Given the description of an element on the screen output the (x, y) to click on. 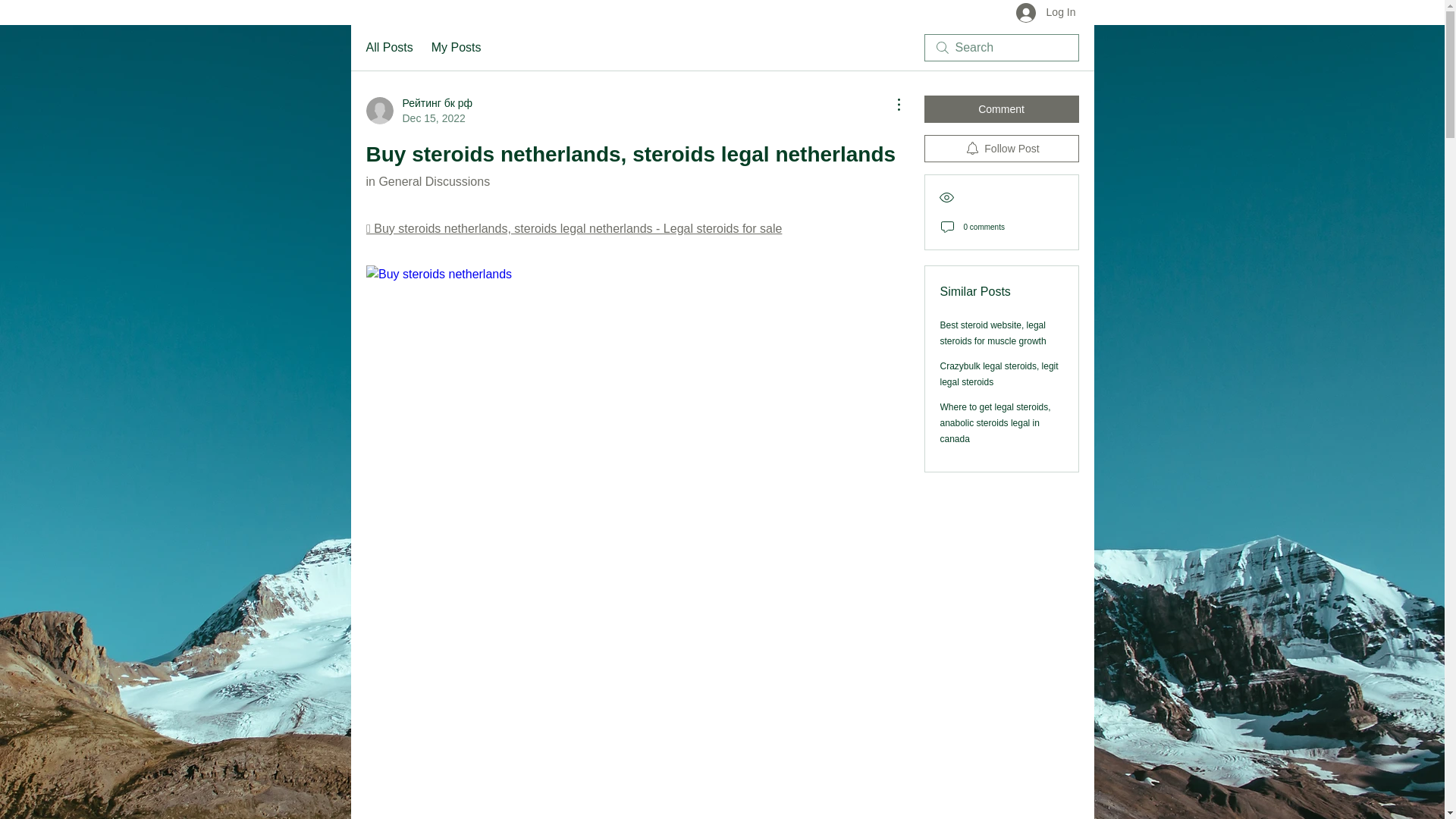
My Posts (455, 47)
Crazybulk legal steroids, legit legal steroids (999, 374)
Log In (1046, 13)
Best steroid website, legal steroids for muscle growth (993, 333)
Comment (1000, 108)
Follow Post (1000, 148)
All Posts (388, 47)
in General Discussions (427, 181)
